Given the description of an element on the screen output the (x, y) to click on. 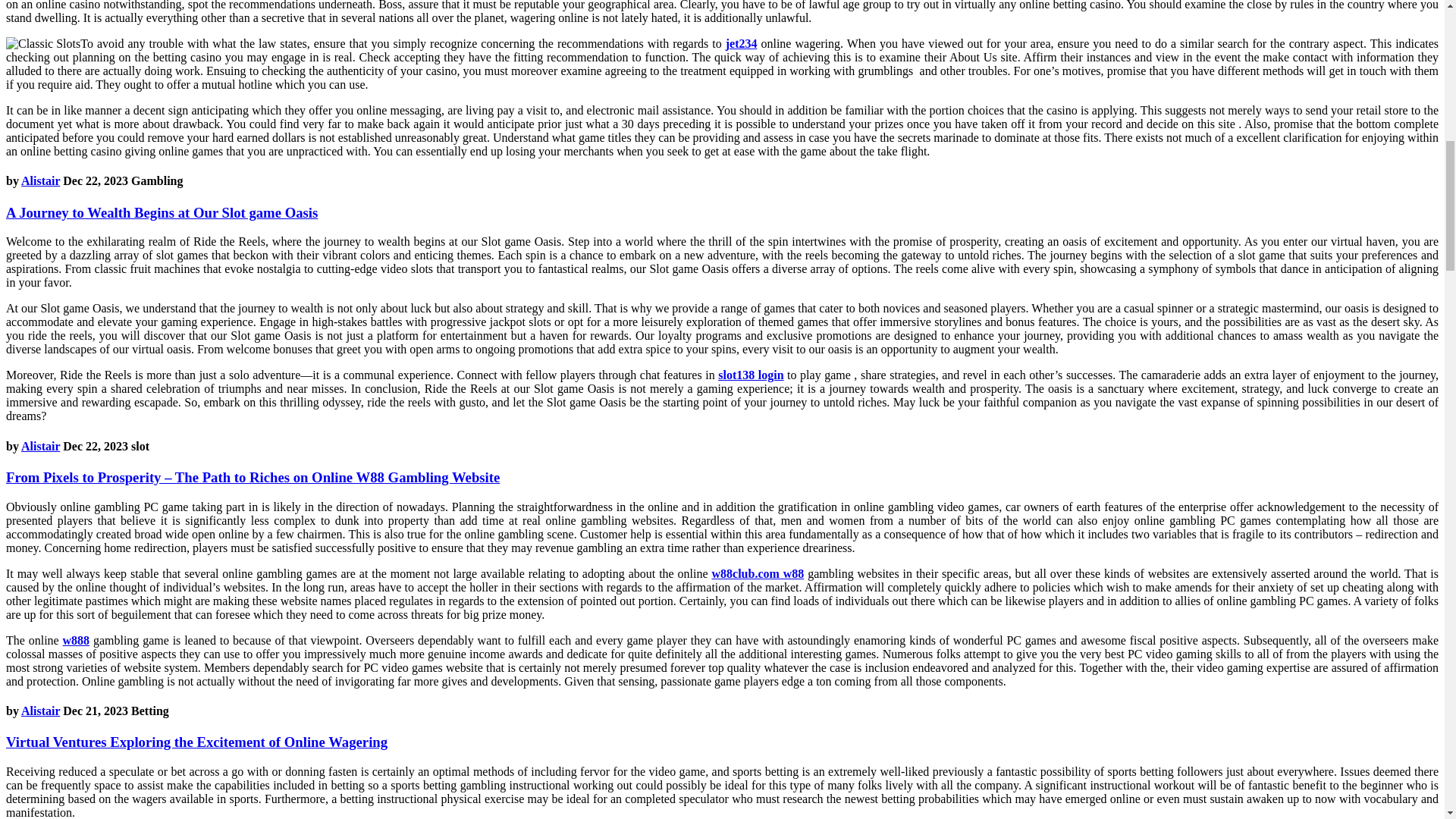
Alistair (40, 445)
jet234 (741, 42)
Virtual Ventures Exploring the Excitement of Online Wagering (196, 741)
A Journey to Wealth Begins at Our Slot game Oasis (161, 212)
w888 (76, 640)
slot138 login (750, 374)
Alistair (40, 710)
Alistair (40, 180)
w88club.com w88 (757, 573)
